Given the description of an element on the screen output the (x, y) to click on. 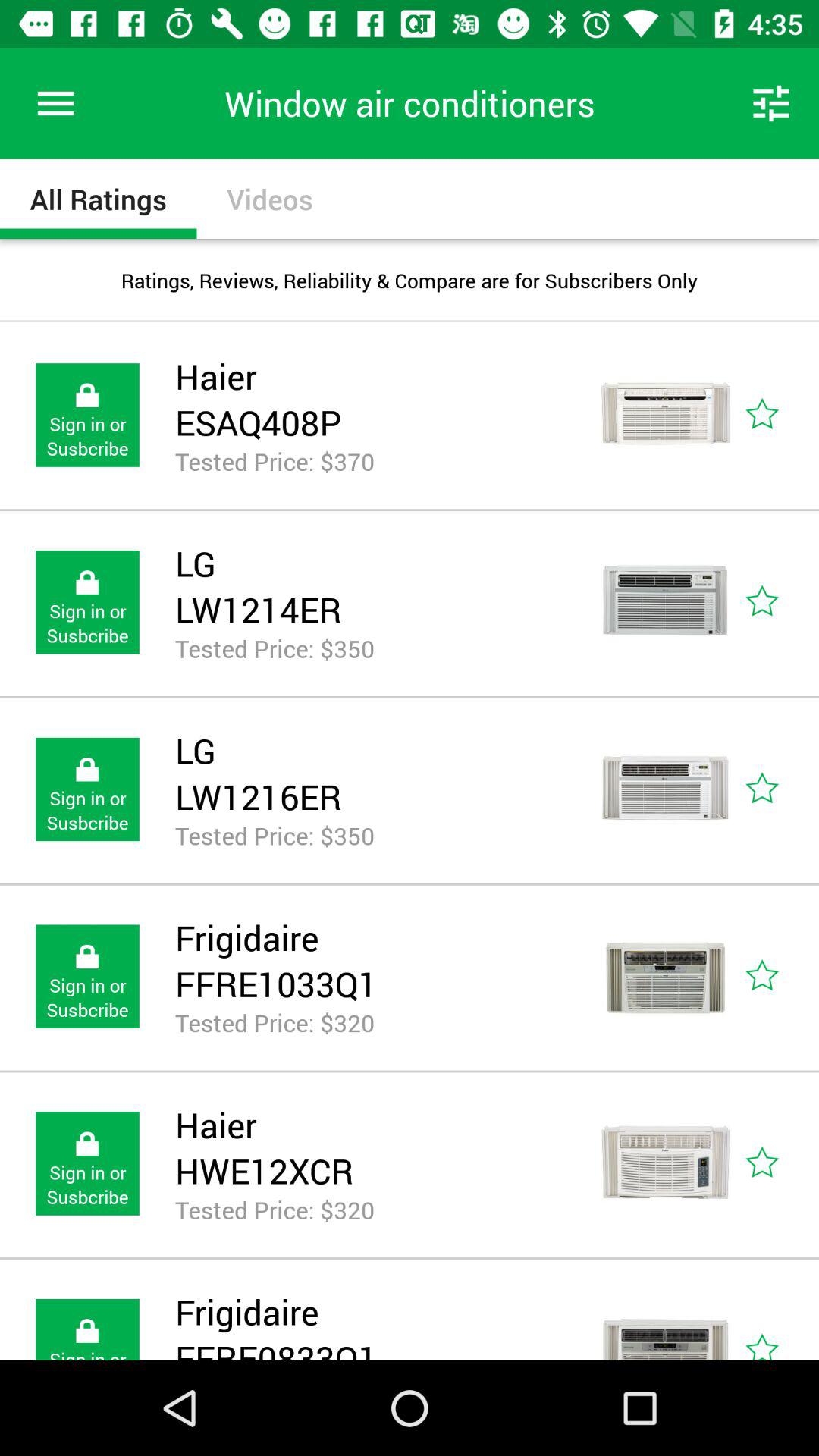
favorite review (779, 789)
